Given the description of an element on the screen output the (x, y) to click on. 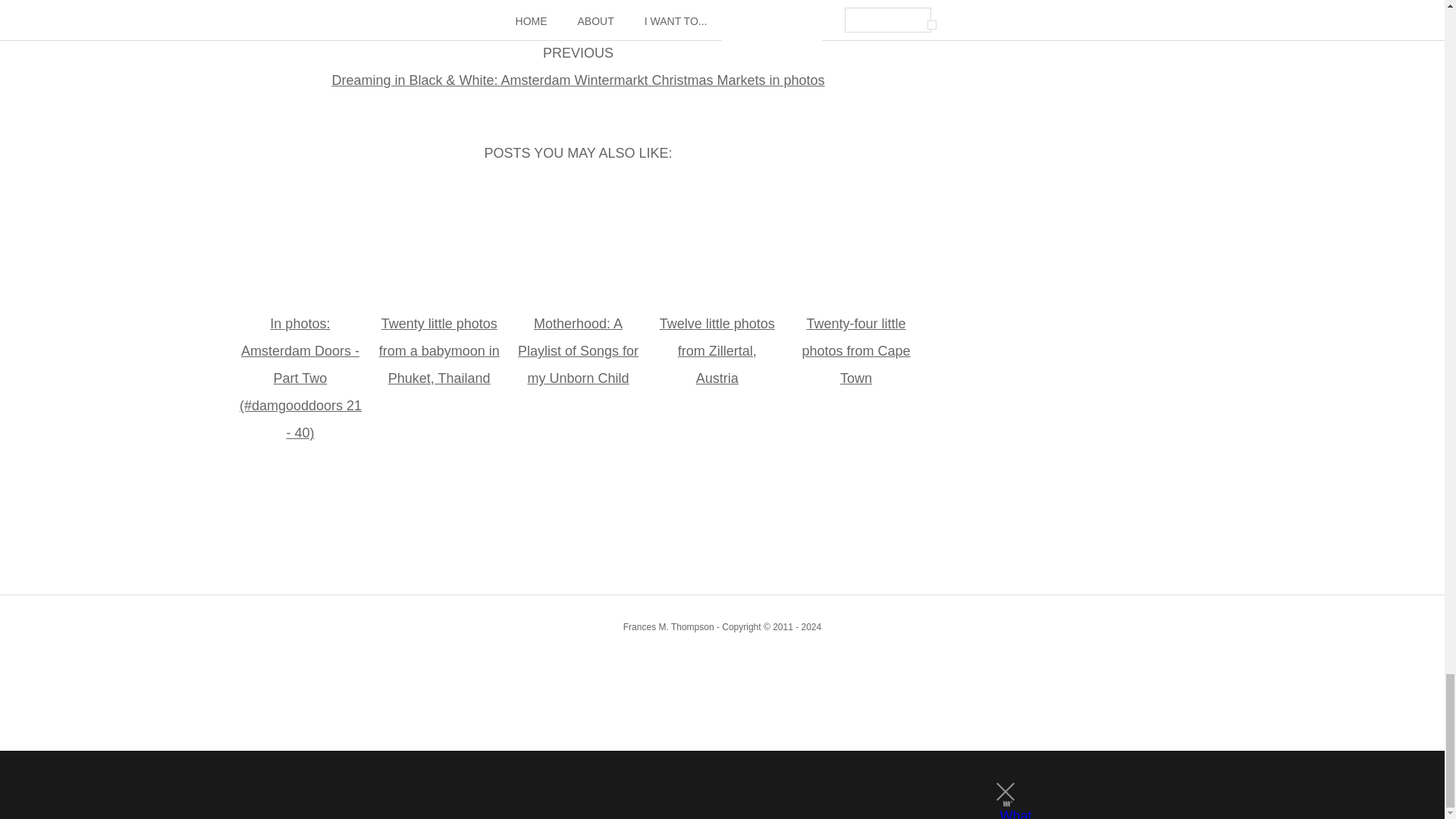
AsTheBirdFlies.Models.Post (577, 2)
AsTheBirdFlies.Models.Post (577, 79)
